Given the description of an element on the screen output the (x, y) to click on. 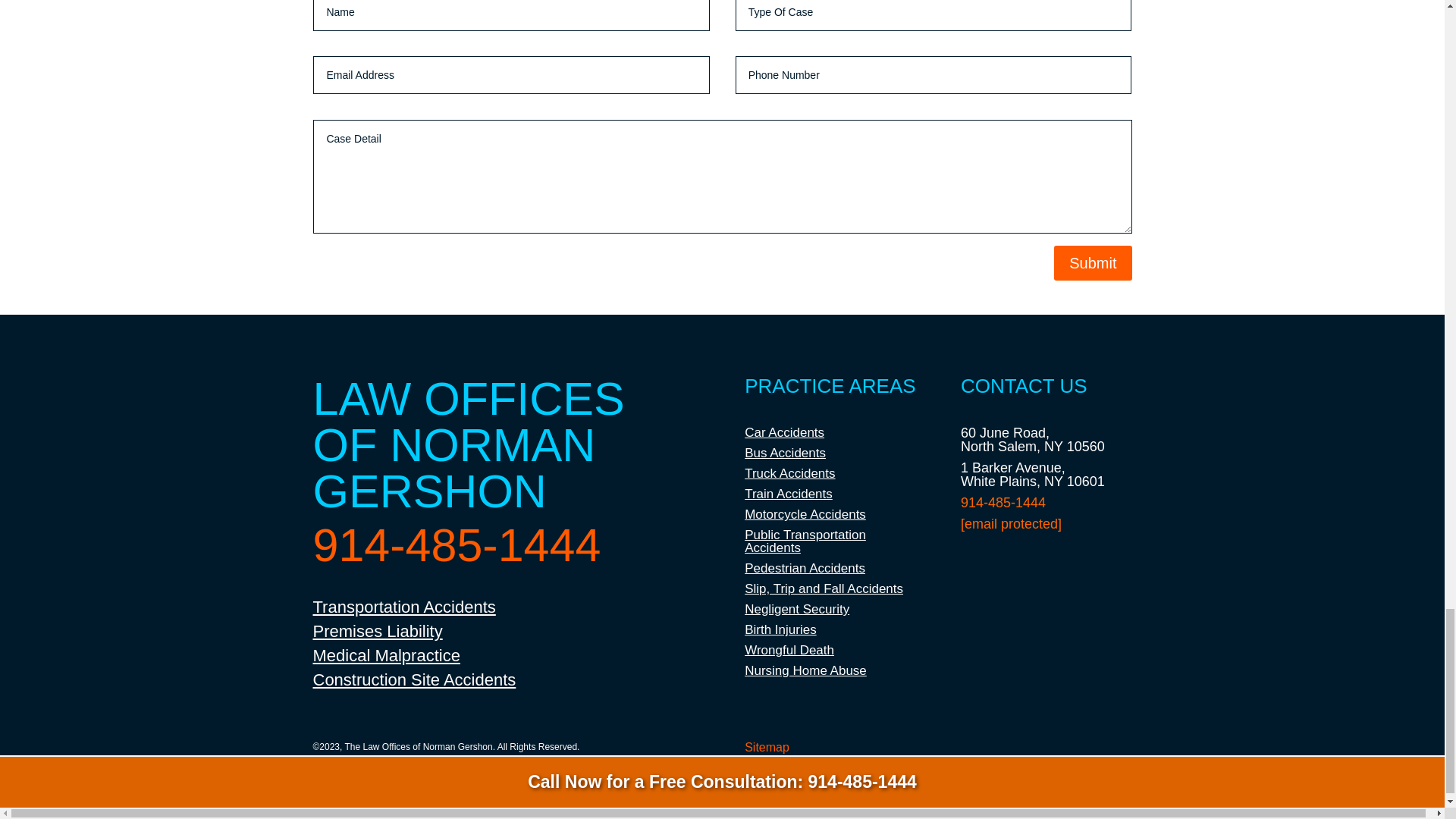
Sitemap (766, 747)
